Given the description of an element on the screen output the (x, y) to click on. 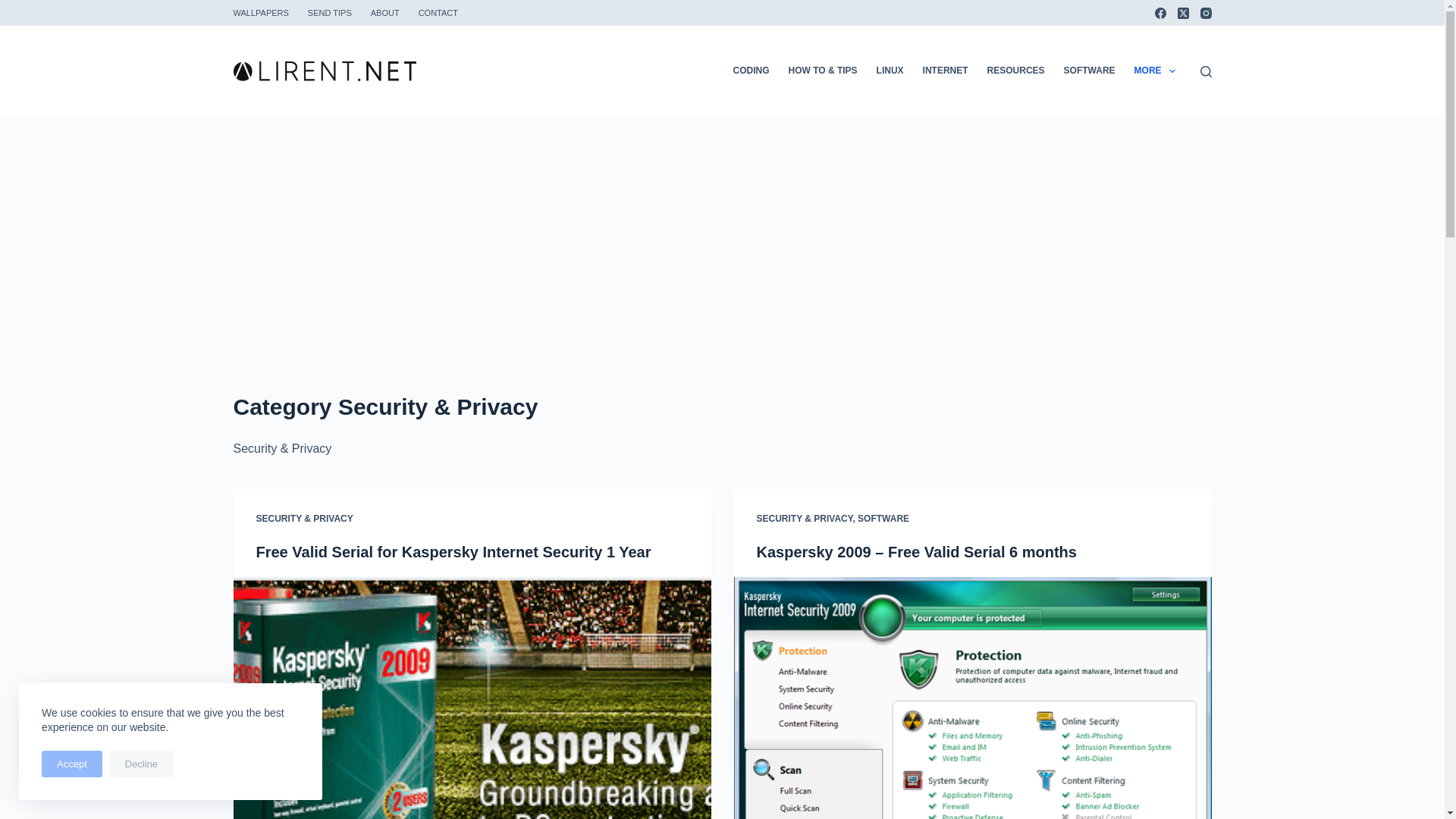
ABOUT (385, 12)
SEND TIPS (329, 12)
WALLPAPERS (265, 12)
Accept (71, 764)
Skip to content (15, 7)
Decline (141, 764)
CONTACT (438, 12)
